Given the description of an element on the screen output the (x, y) to click on. 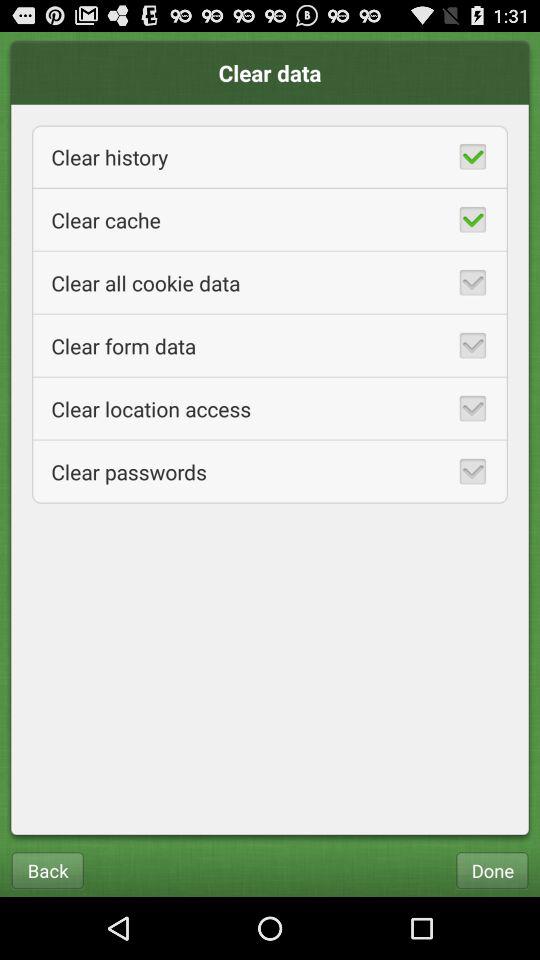
swipe to clear all cookie item (269, 282)
